Given the description of an element on the screen output the (x, y) to click on. 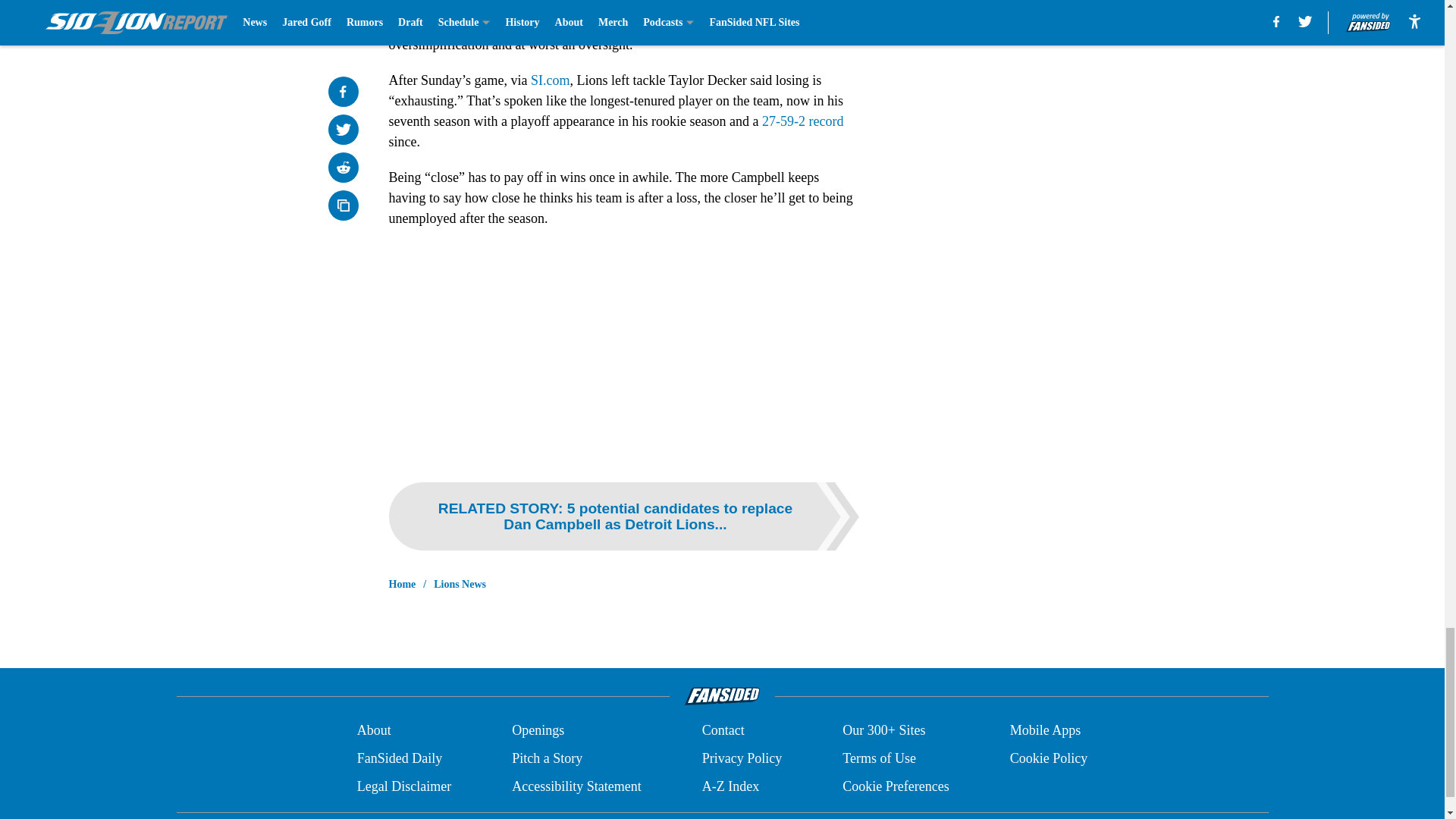
Pitch a Story (547, 758)
FanSided Daily (399, 758)
Privacy Policy (742, 758)
27-59-2 record (802, 120)
Lions News (459, 584)
About (373, 730)
Mobile Apps (1045, 730)
Openings (538, 730)
Home (401, 584)
